Given the description of an element on the screen output the (x, y) to click on. 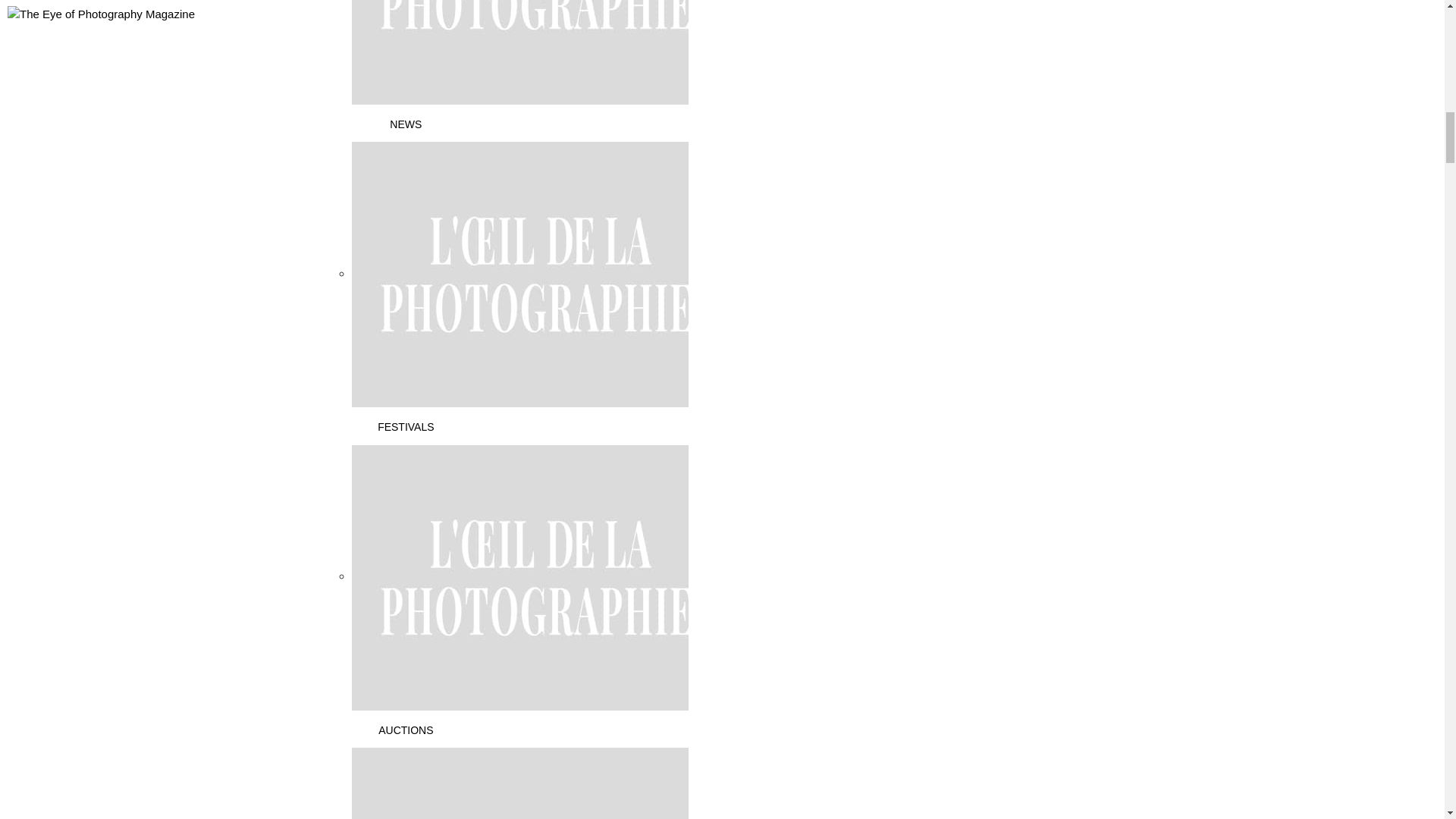
Auctions (541, 576)
Festivals (541, 273)
